Given the description of an element on the screen output the (x, y) to click on. 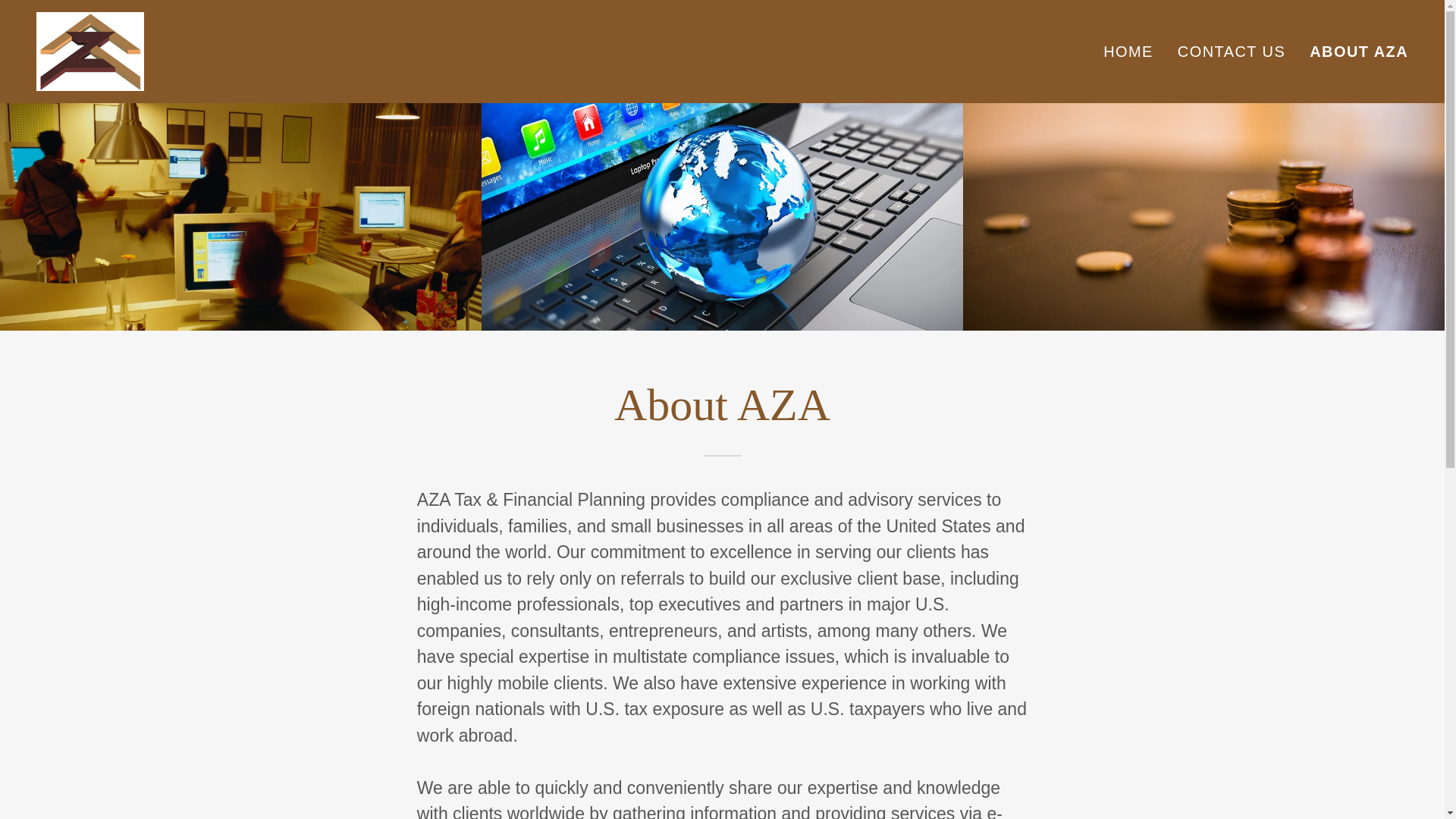
CONTACT US (1231, 51)
ABOUT AZA (1357, 51)
AZA (90, 49)
HOME (1128, 51)
